Given the description of an element on the screen output the (x, y) to click on. 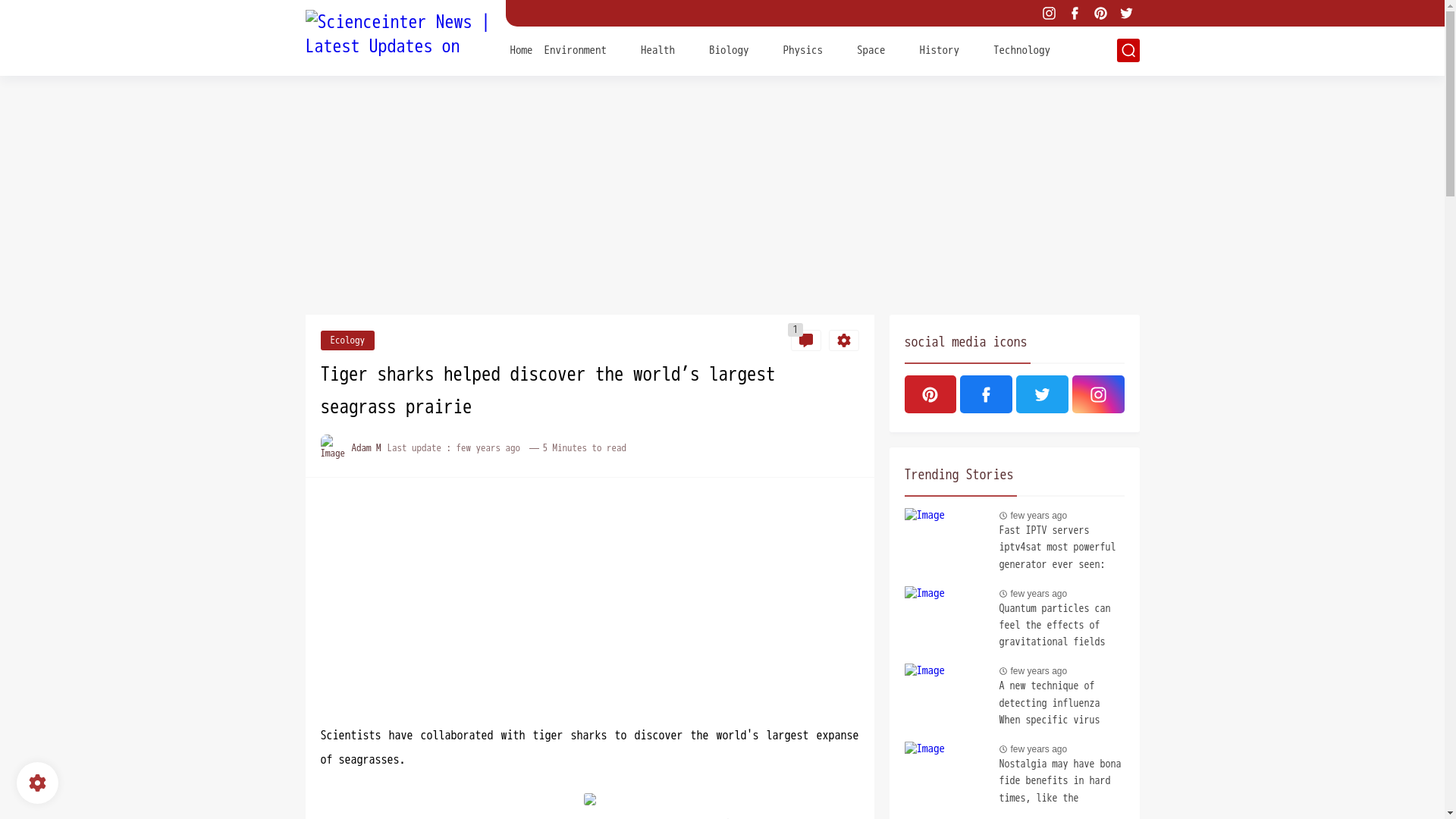
Home (520, 49)
Environment (575, 49)
Health (657, 49)
Environment (575, 49)
Home (520, 49)
Health (657, 49)
Ecology (347, 340)
1 (805, 340)
Space (871, 49)
Technology (1020, 49)
